Given the description of an element on the screen output the (x, y) to click on. 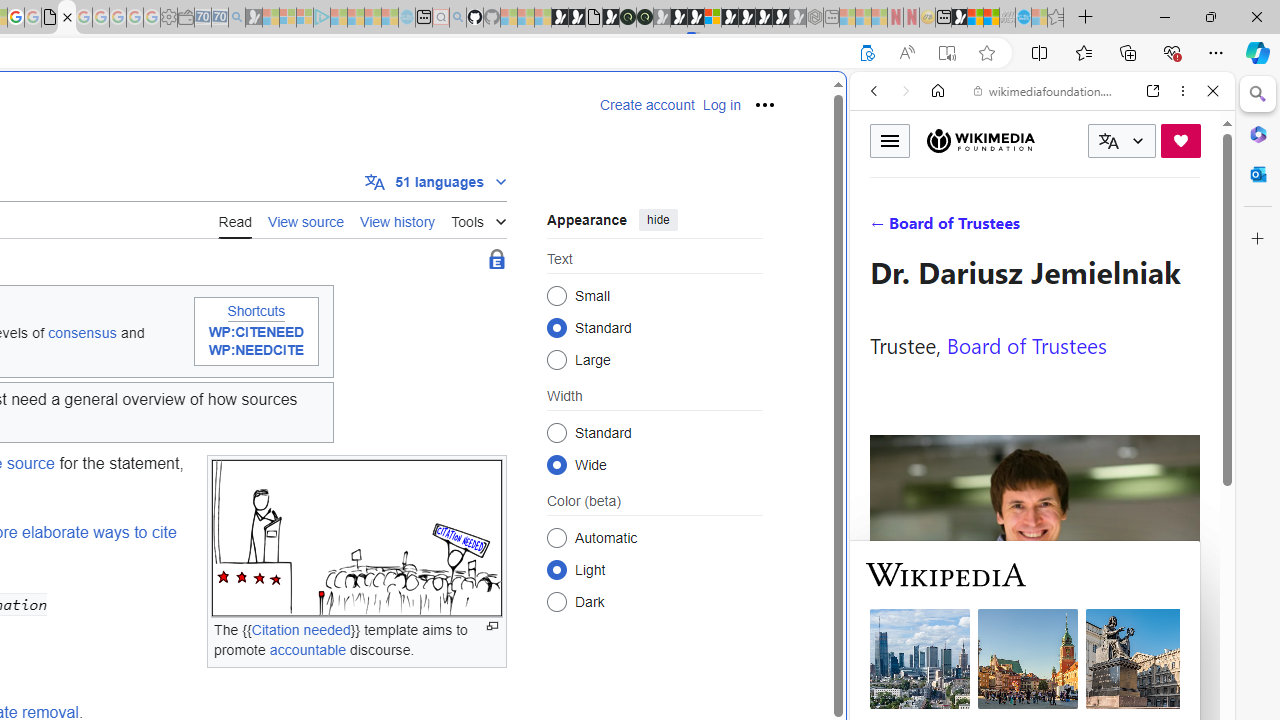
Log in (721, 105)
View source (306, 219)
CURRENT LANGUAGE: (1121, 141)
